Given the description of an element on the screen output the (x, y) to click on. 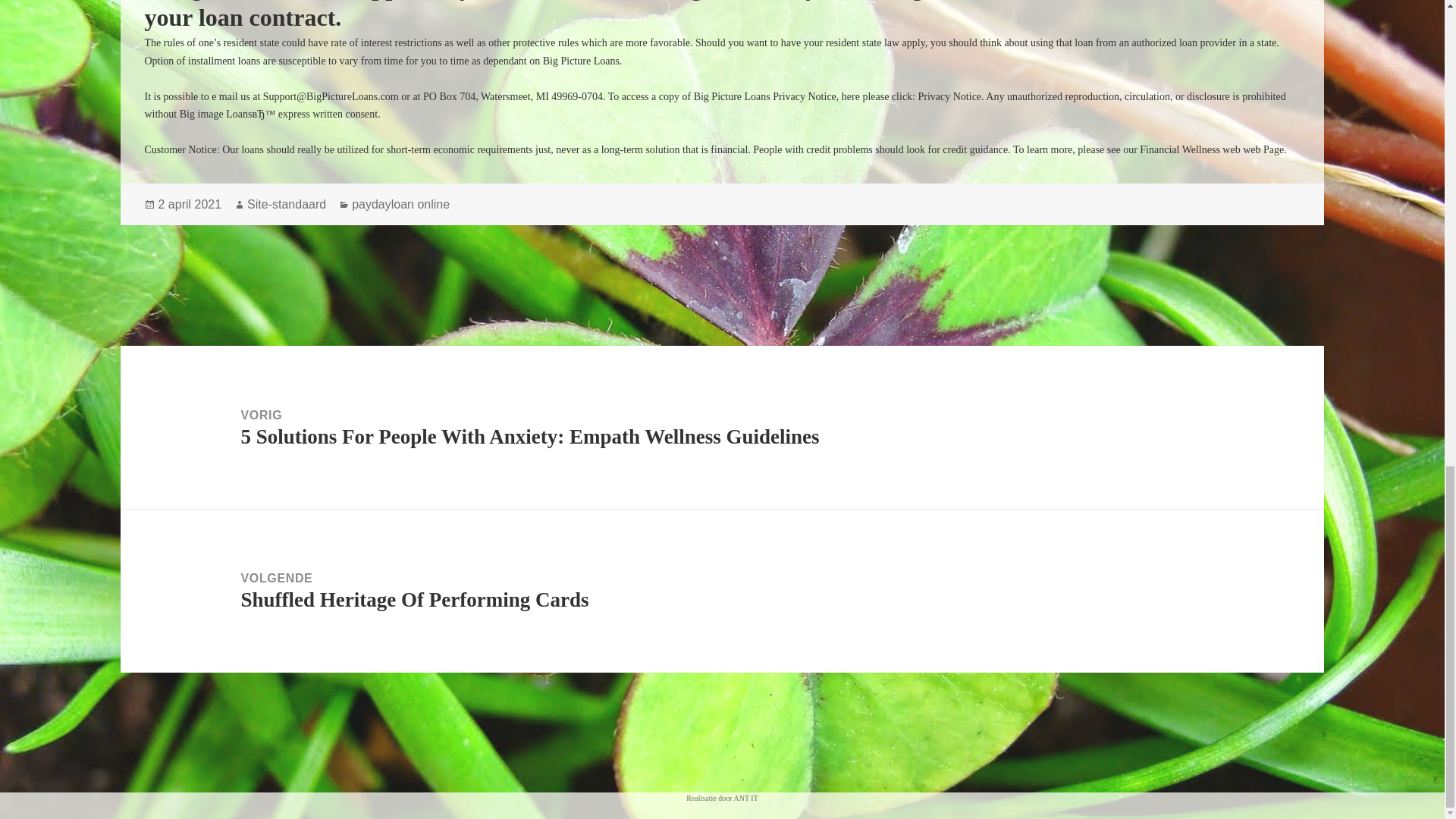
ANT IT (745, 798)
Site-standaard (286, 204)
2 april 2021 (189, 204)
paydayloan online (400, 204)
